Given the description of an element on the screen output the (x, y) to click on. 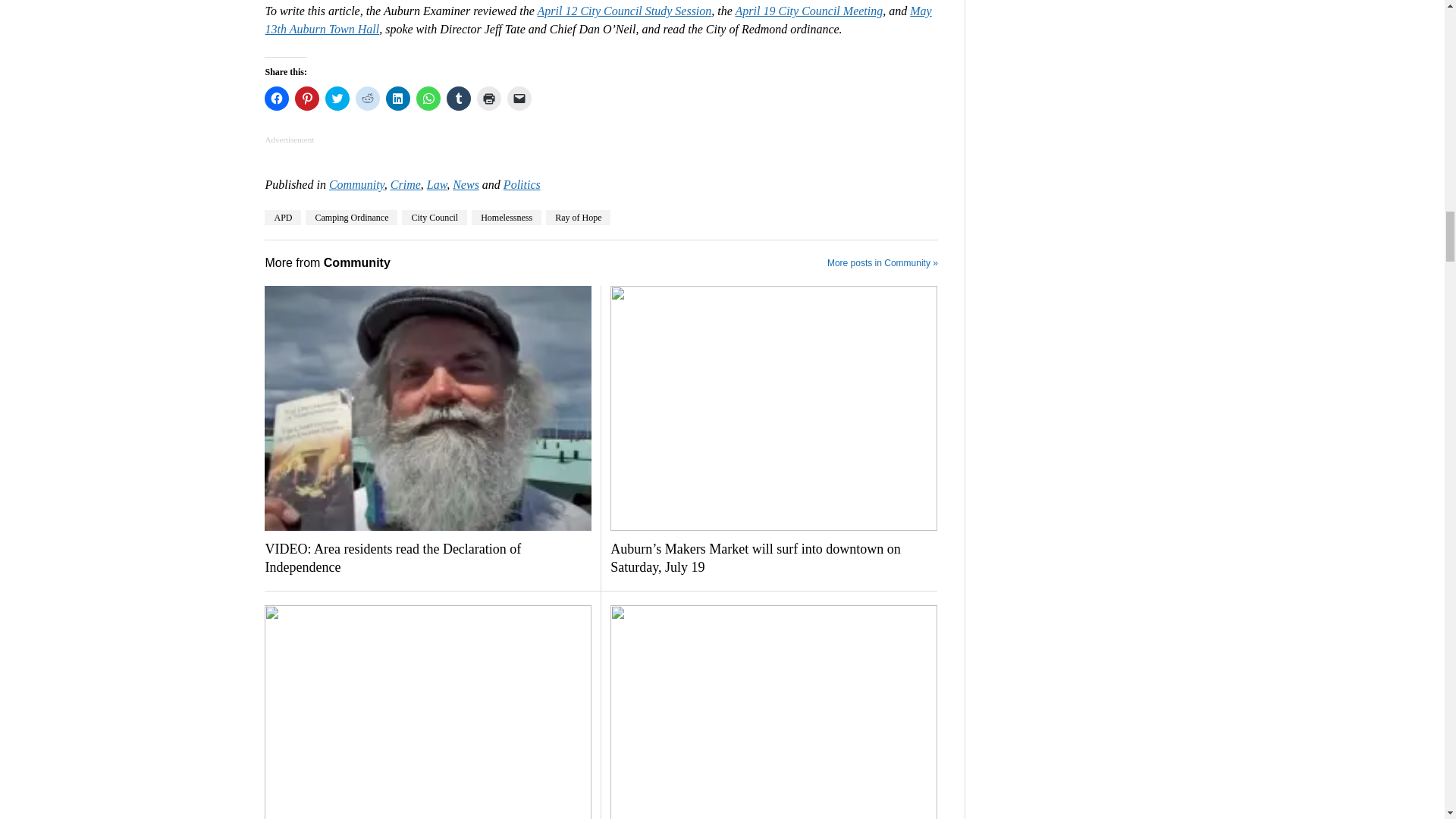
Click to share on Tumblr (458, 98)
Click to share on WhatsApp (428, 98)
Click to email a link to a friend (518, 98)
Click to share on Facebook (276, 98)
Click to print (488, 98)
Click to share on LinkedIn (397, 98)
Click to share on Twitter (336, 98)
Click to share on Pinterest (306, 98)
Click to share on Reddit (367, 98)
